Given the description of an element on the screen output the (x, y) to click on. 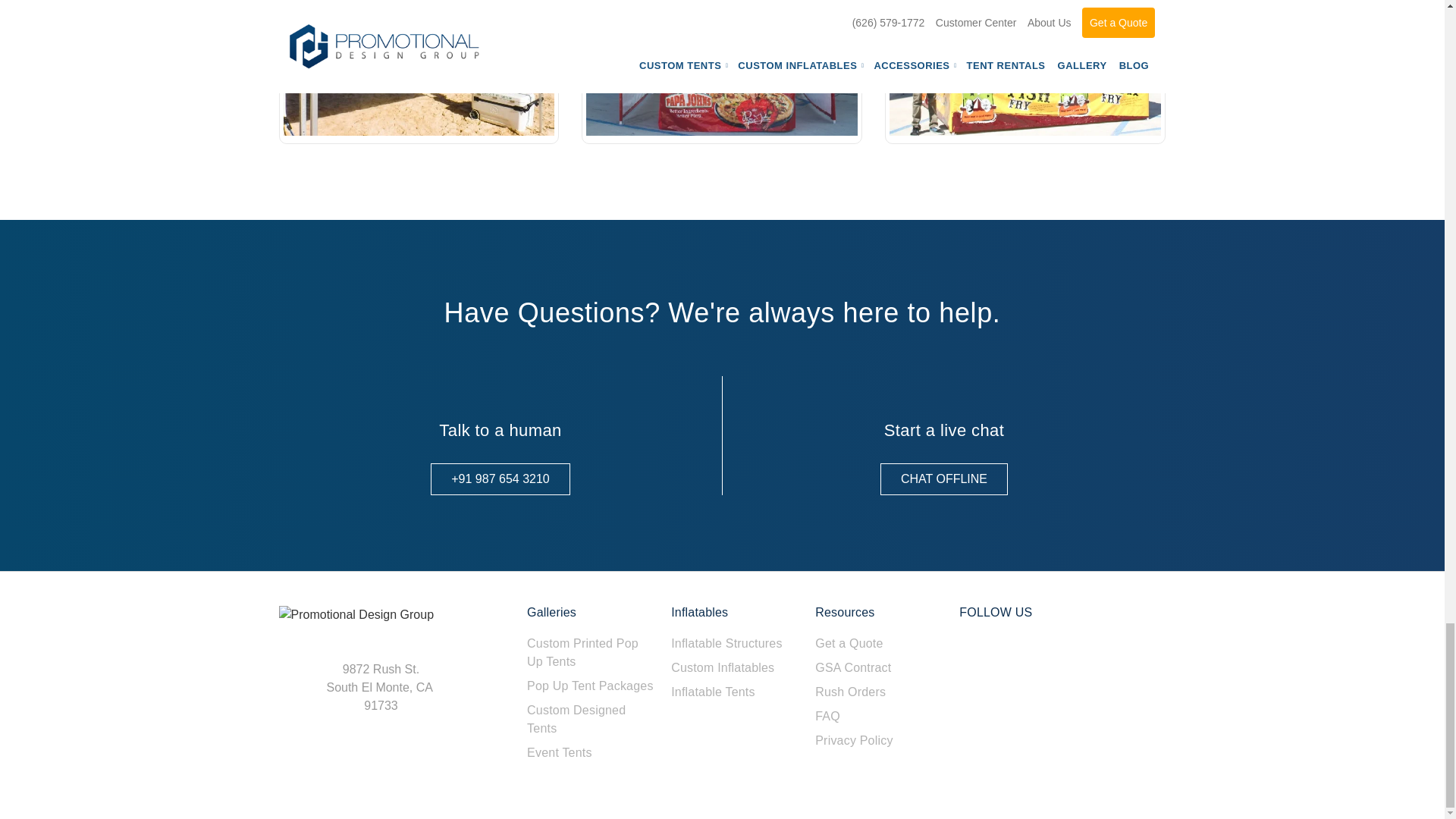
10x10 Gold Package Papa John's Pop Up Tent (721, 67)
10x0 green tea canopy (418, 67)
Joe's Fish Fry 10x10 Food Booth Canopy (1024, 67)
Promotional Design Group (356, 615)
